Given the description of an element on the screen output the (x, y) to click on. 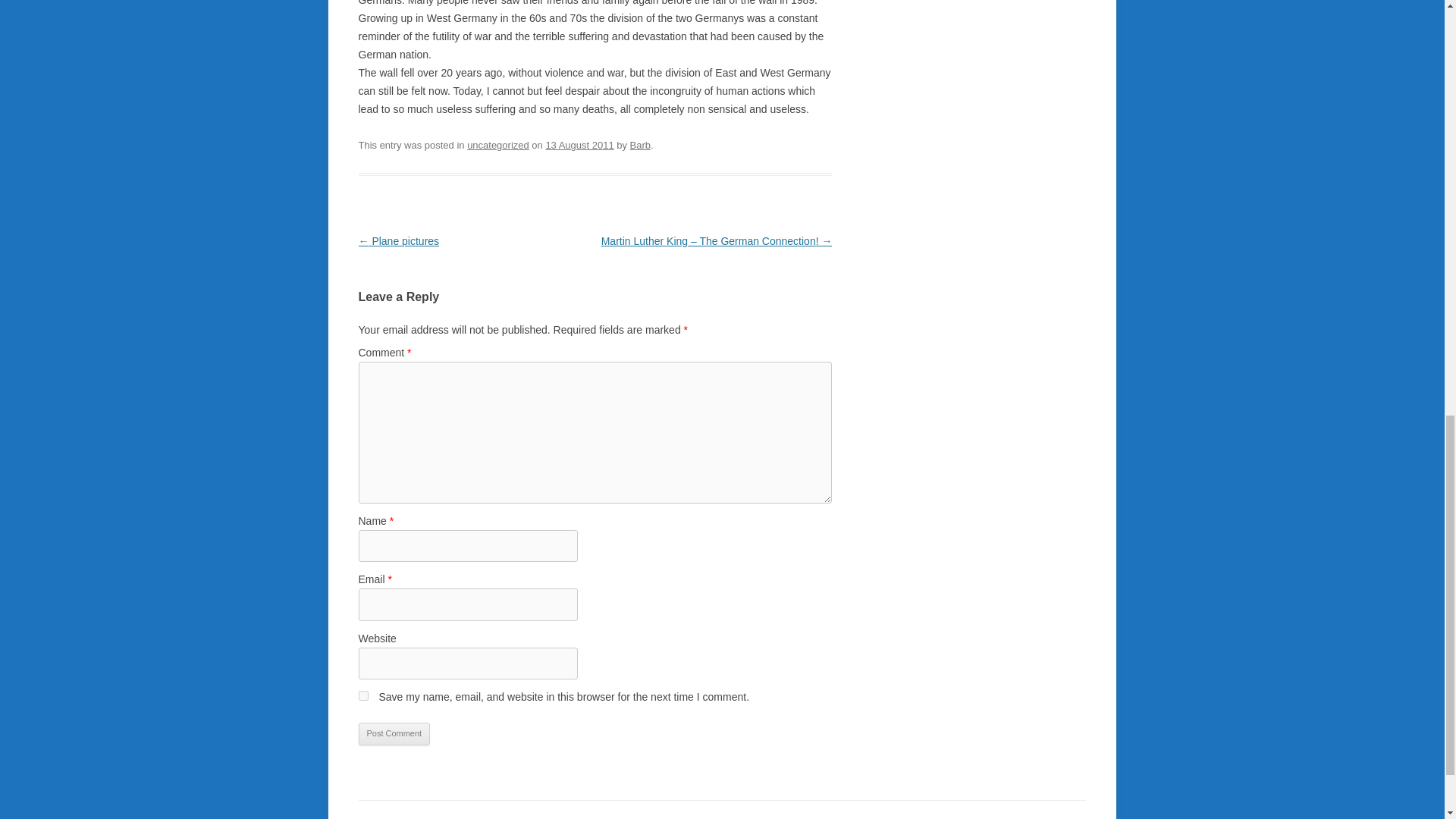
Post Comment (393, 733)
13 August 2011 (578, 144)
uncategorized (498, 144)
yes (363, 696)
Barb (640, 144)
Post Comment (393, 733)
1:57 pm (578, 144)
View all posts by Barb (640, 144)
